Given the description of an element on the screen output the (x, y) to click on. 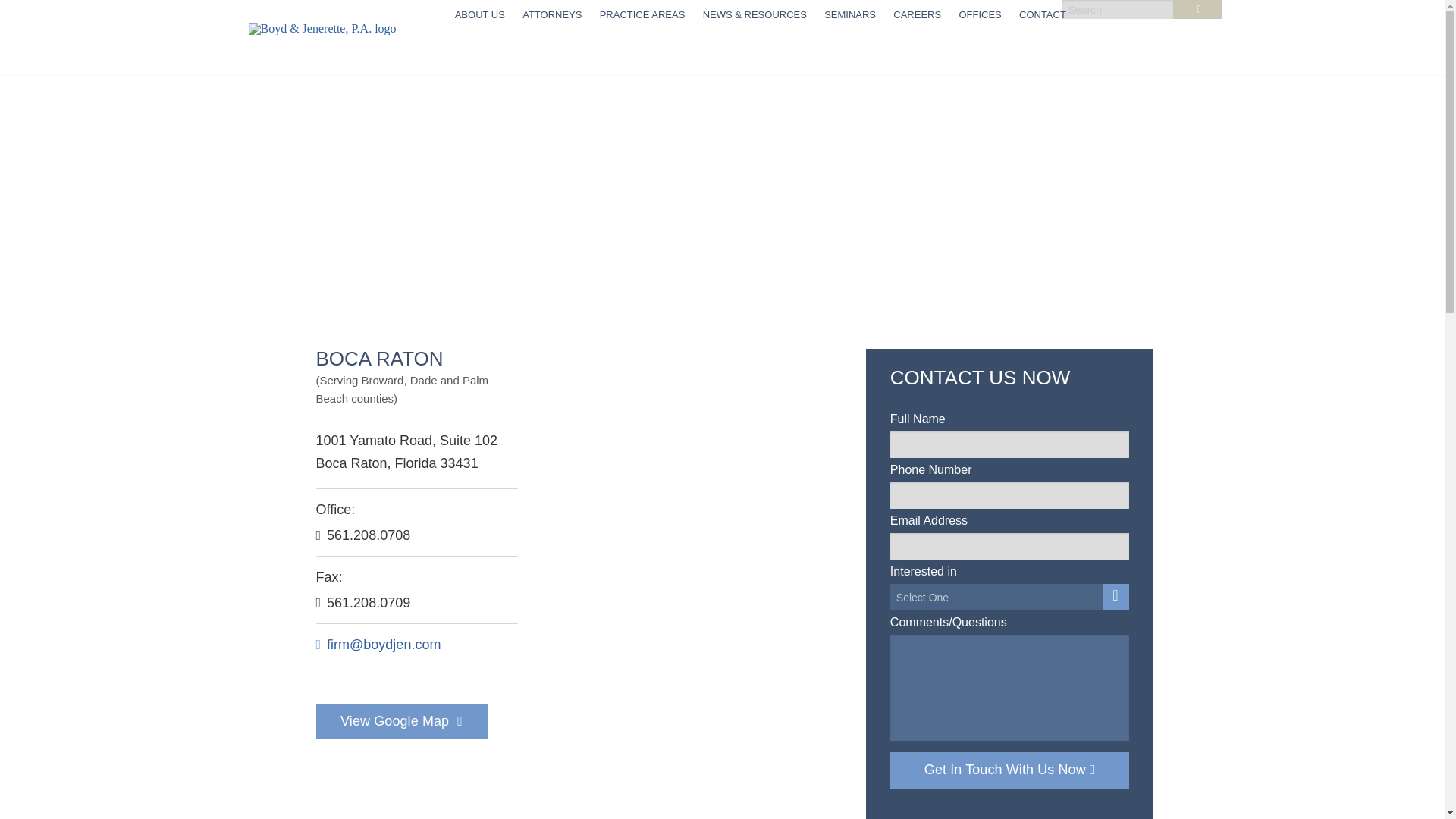
ABOUT US (479, 14)
Get In Touch With Us Now (1009, 769)
CAREERS (917, 14)
CONTACT (1042, 14)
View Google Map (400, 720)
ATTORNEYS (552, 14)
PRACTICE AREAS (642, 14)
SEMINARS (849, 14)
OFFICES (980, 14)
